Given the description of an element on the screen output the (x, y) to click on. 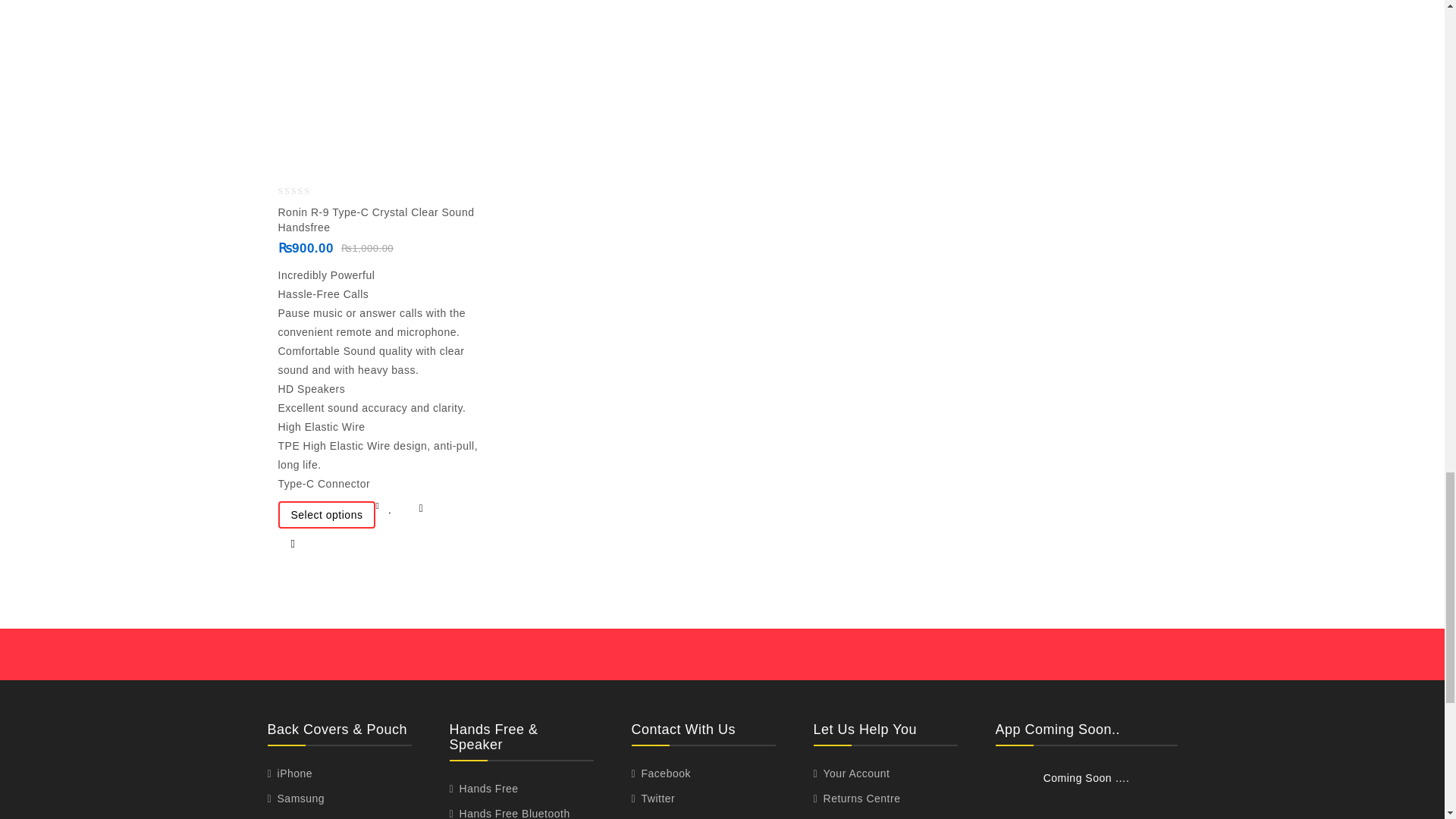
Not yet rated (307, 190)
